Given the description of an element on the screen output the (x, y) to click on. 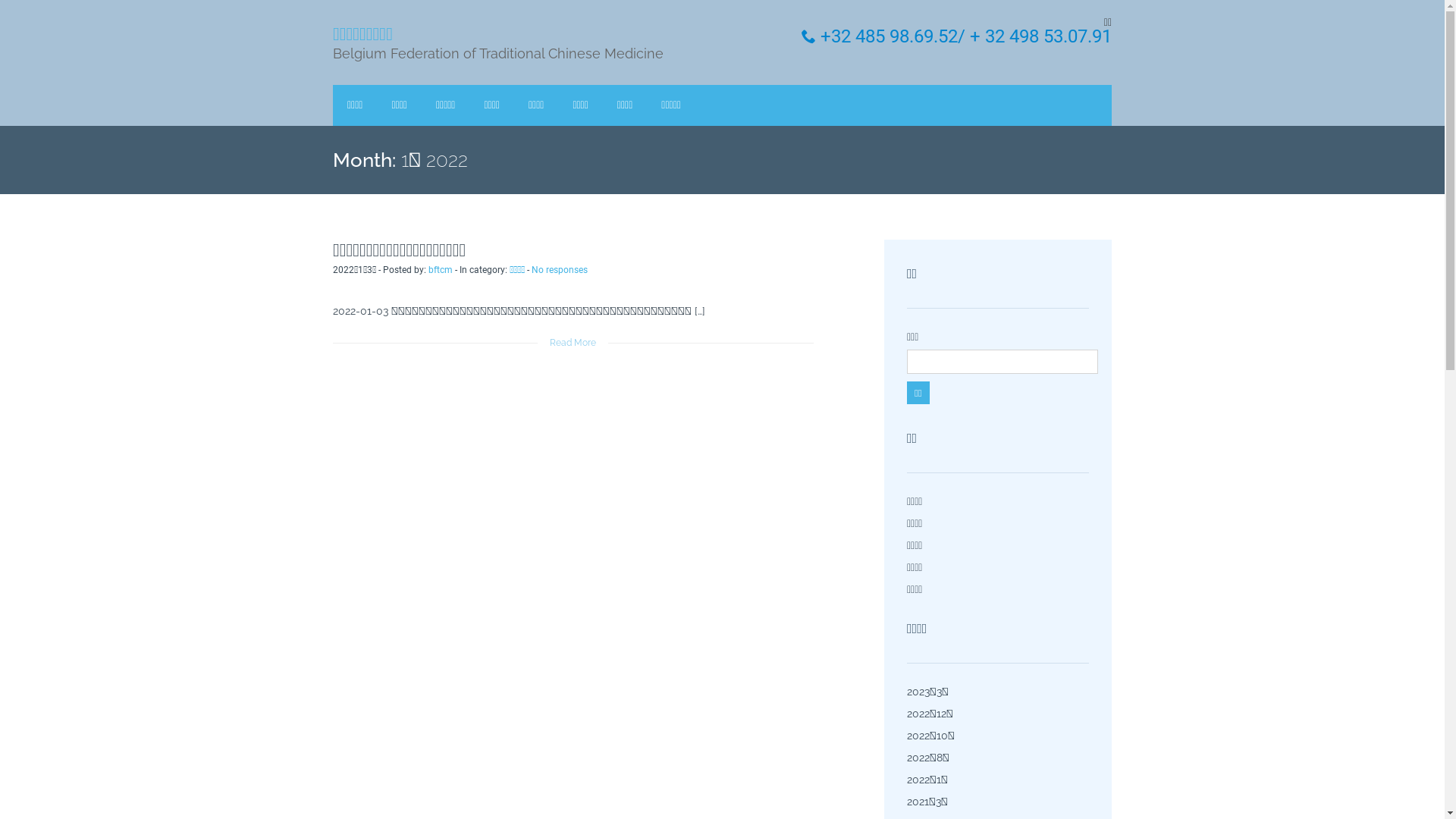
Read More Element type: text (572, 342)
+32 485 98.69.52/ + 32 498 53.07.91 Element type: text (956, 36)
No responses Element type: text (559, 269)
bftcm Element type: text (440, 269)
